Given the description of an element on the screen output the (x, y) to click on. 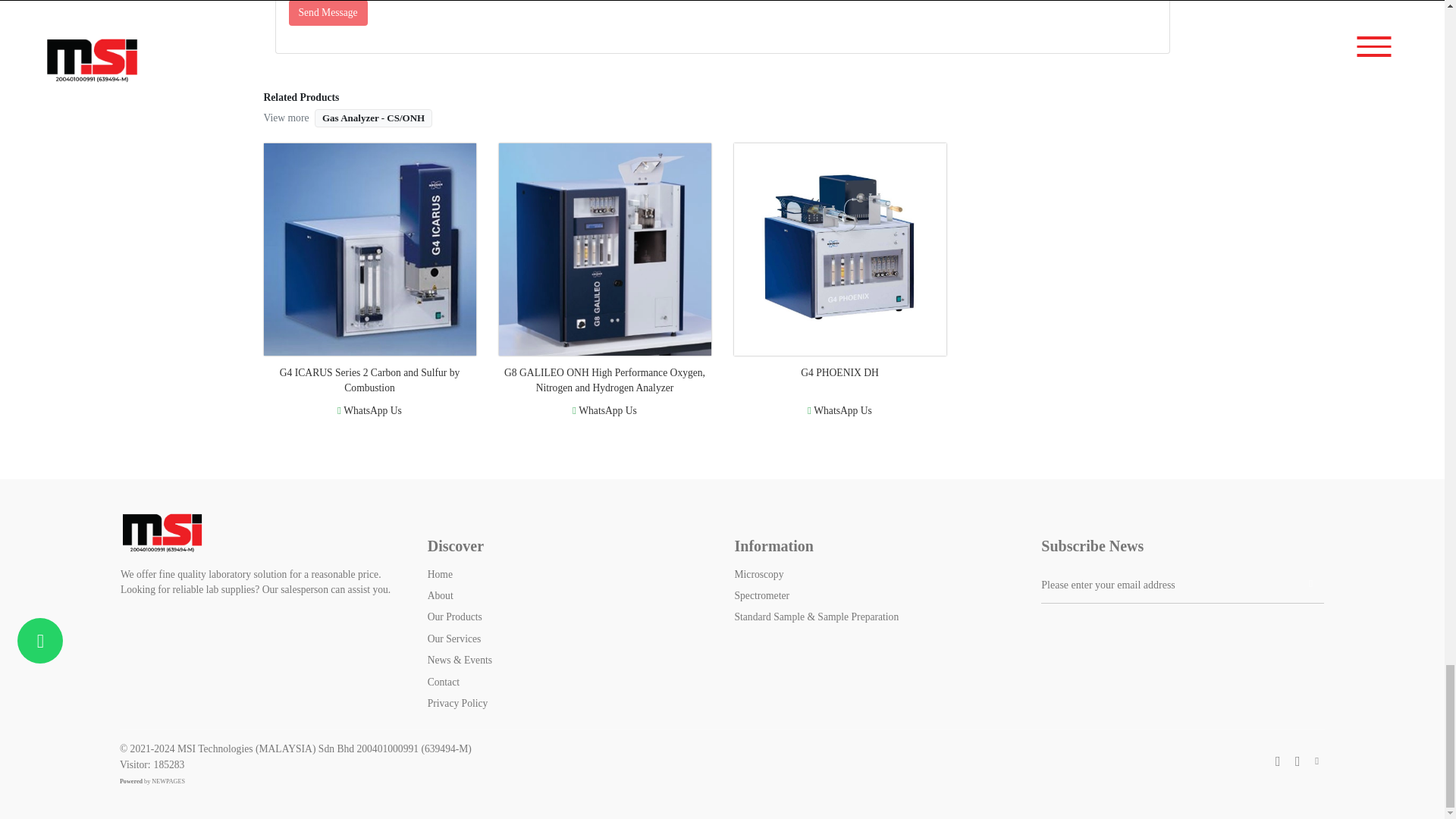
Send Message (327, 12)
